Given the description of an element on the screen output the (x, y) to click on. 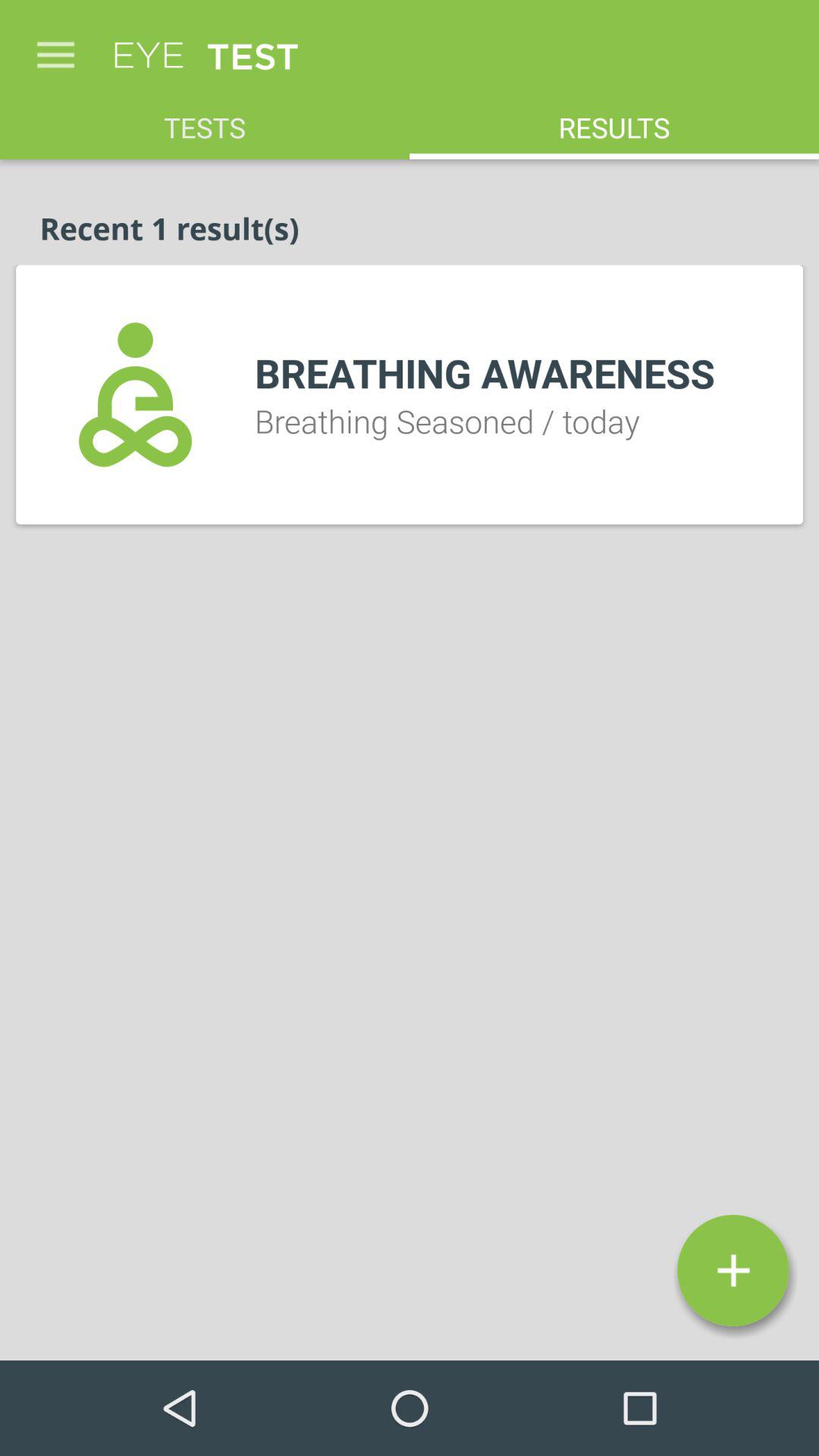
choose the item to the left of eye (55, 47)
